Given the description of an element on the screen output the (x, y) to click on. 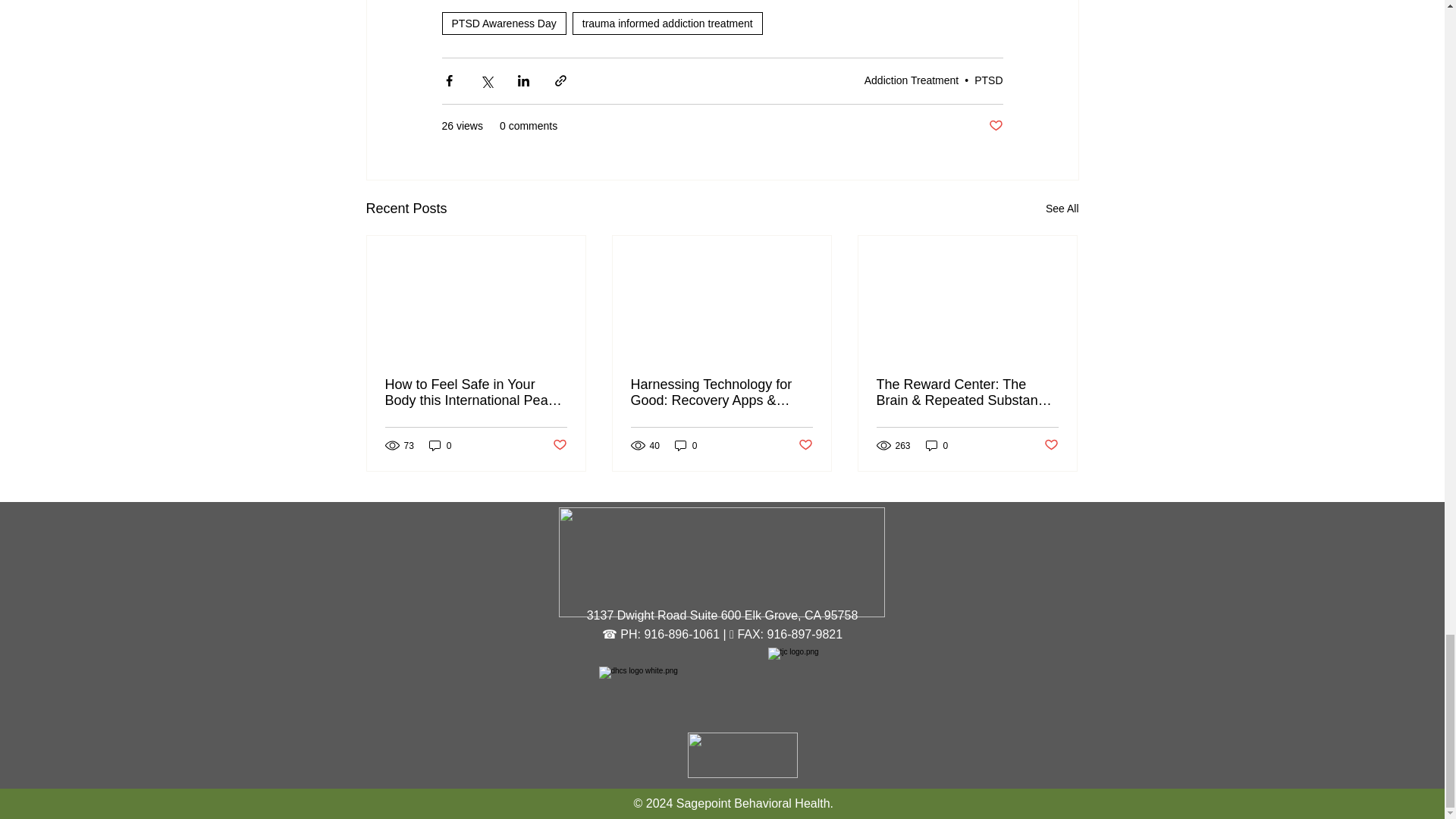
PTSD Awareness Day (503, 23)
PTSD (988, 80)
Post not marked as liked (995, 125)
trauma informed addiction treatment (667, 23)
NEW LOGO Final  no background.html.png (720, 561)
Addiction Treatment (911, 80)
See All (1061, 209)
